Given the description of an element on the screen output the (x, y) to click on. 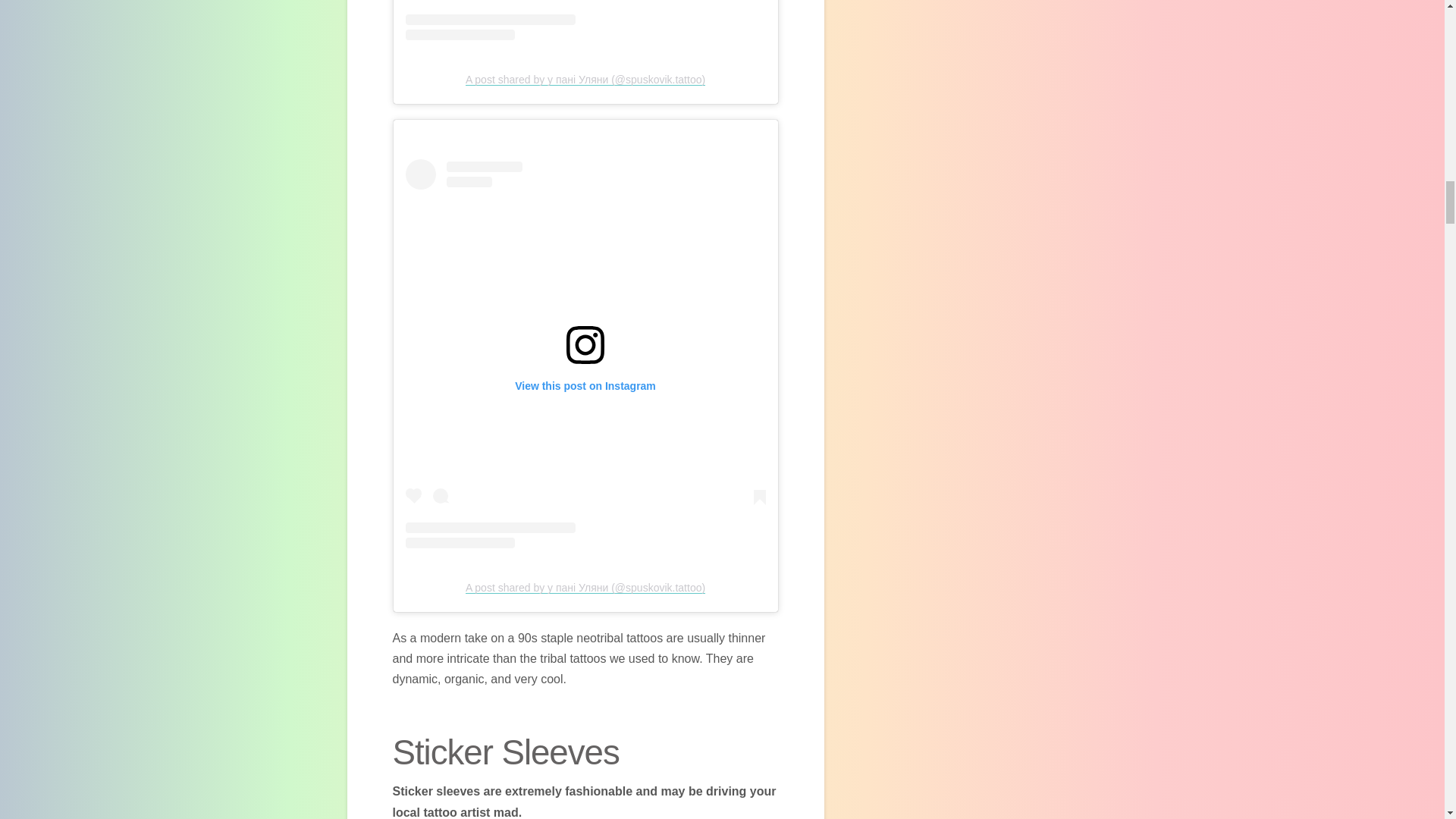
View this post on Instagram (584, 20)
